Given the description of an element on the screen output the (x, y) to click on. 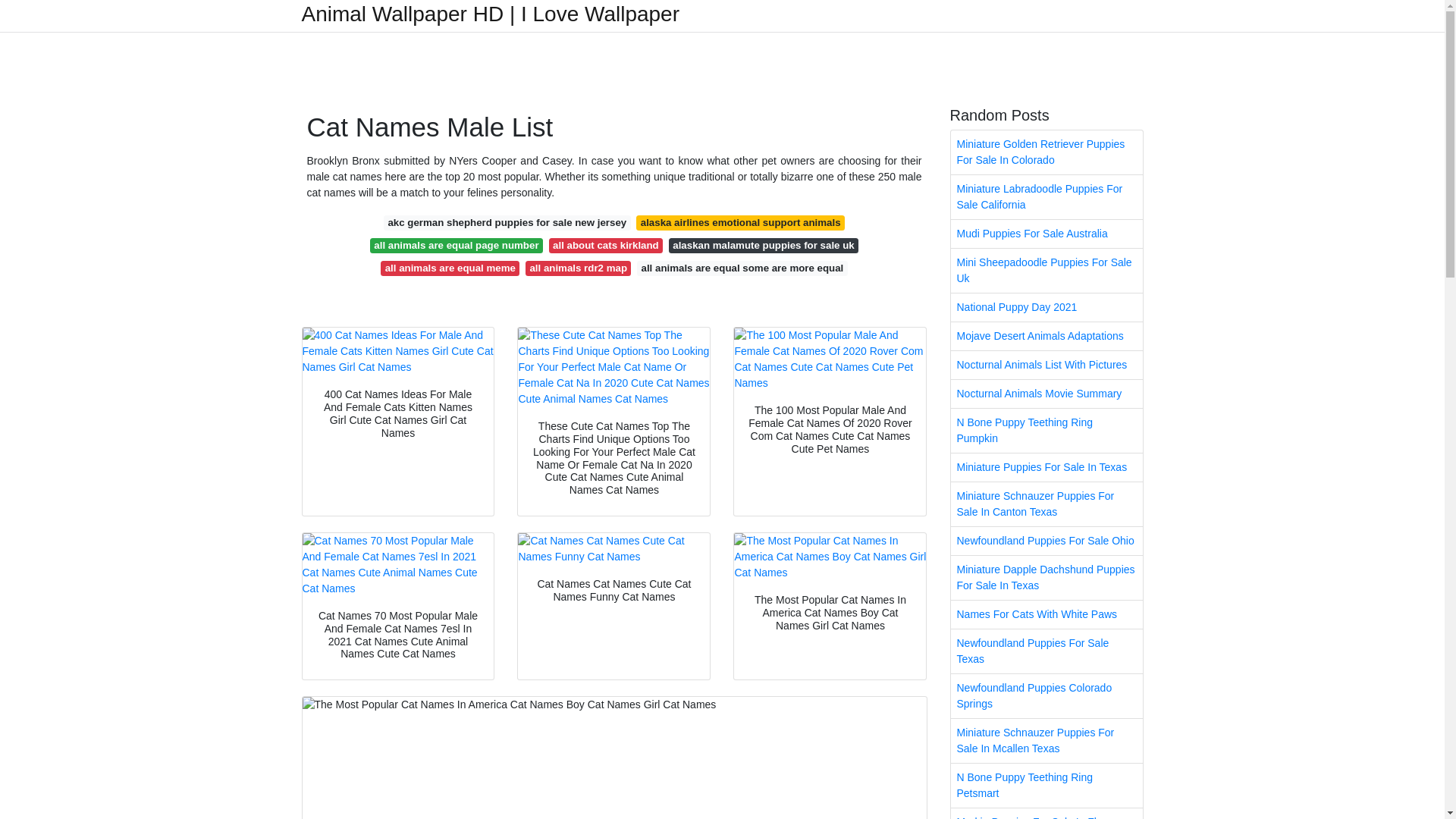
all about cats kirkland (605, 245)
Nocturnal Animals Movie Summary (1046, 393)
all animals are equal meme (449, 268)
Nocturnal Animals List With Pictures (1046, 365)
National Puppy Day 2021 (1046, 307)
all animals are equal some are more equal (742, 268)
akc german shepherd puppies for sale new jersey (507, 222)
Miniature Puppies For Sale In Texas (1046, 467)
Miniature Golden Retriever Puppies For Sale In Colorado (1046, 152)
all animals rdr2 map (577, 268)
